Given the description of an element on the screen output the (x, y) to click on. 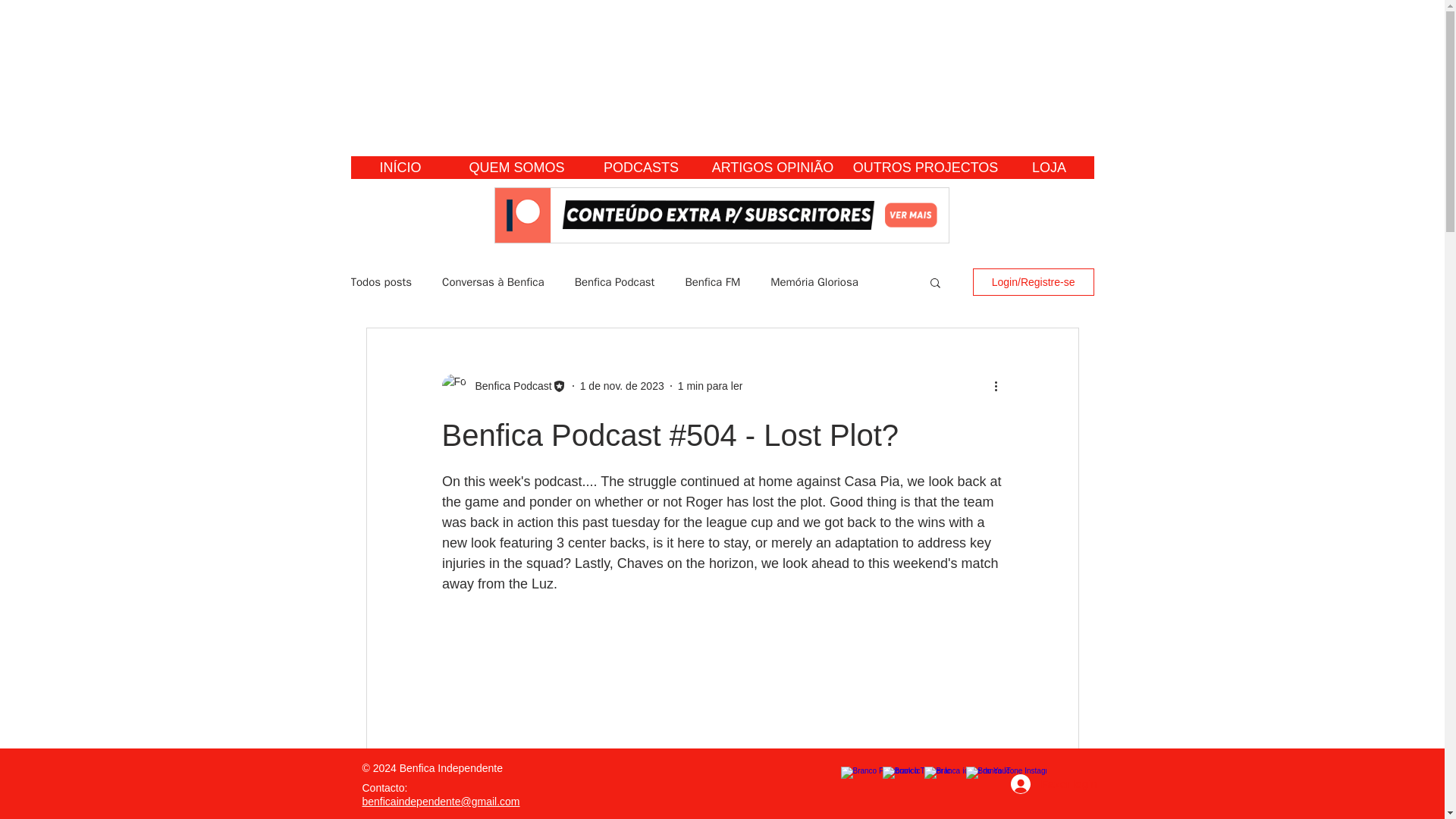
1 de nov. de 2023 (621, 385)
PODCASTS (640, 167)
OUTROS PROJECTOS (924, 167)
QUEM SOMOS (516, 167)
Benfica Podcast (615, 281)
Benfica FM (711, 281)
LOJA (1048, 167)
Benfica Podcast (508, 385)
1 min para ler (710, 385)
Todos posts (381, 281)
